Given the description of an element on the screen output the (x, y) to click on. 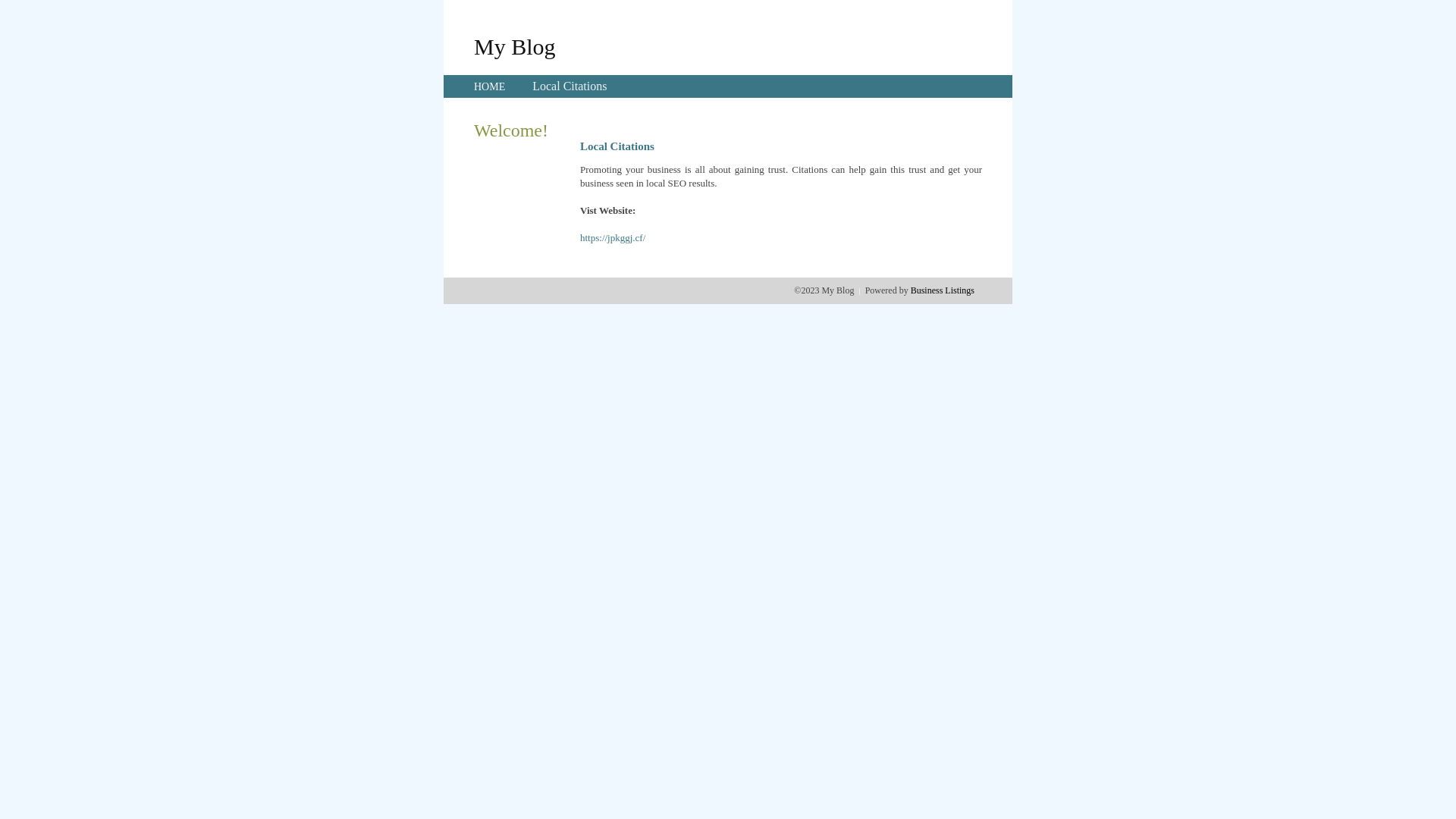
Local Citations Element type: text (569, 85)
My Blog Element type: text (514, 46)
HOME Element type: text (489, 86)
https://jpkggj.cf/ Element type: text (612, 237)
Business Listings Element type: text (942, 290)
